Given the description of an element on the screen output the (x, y) to click on. 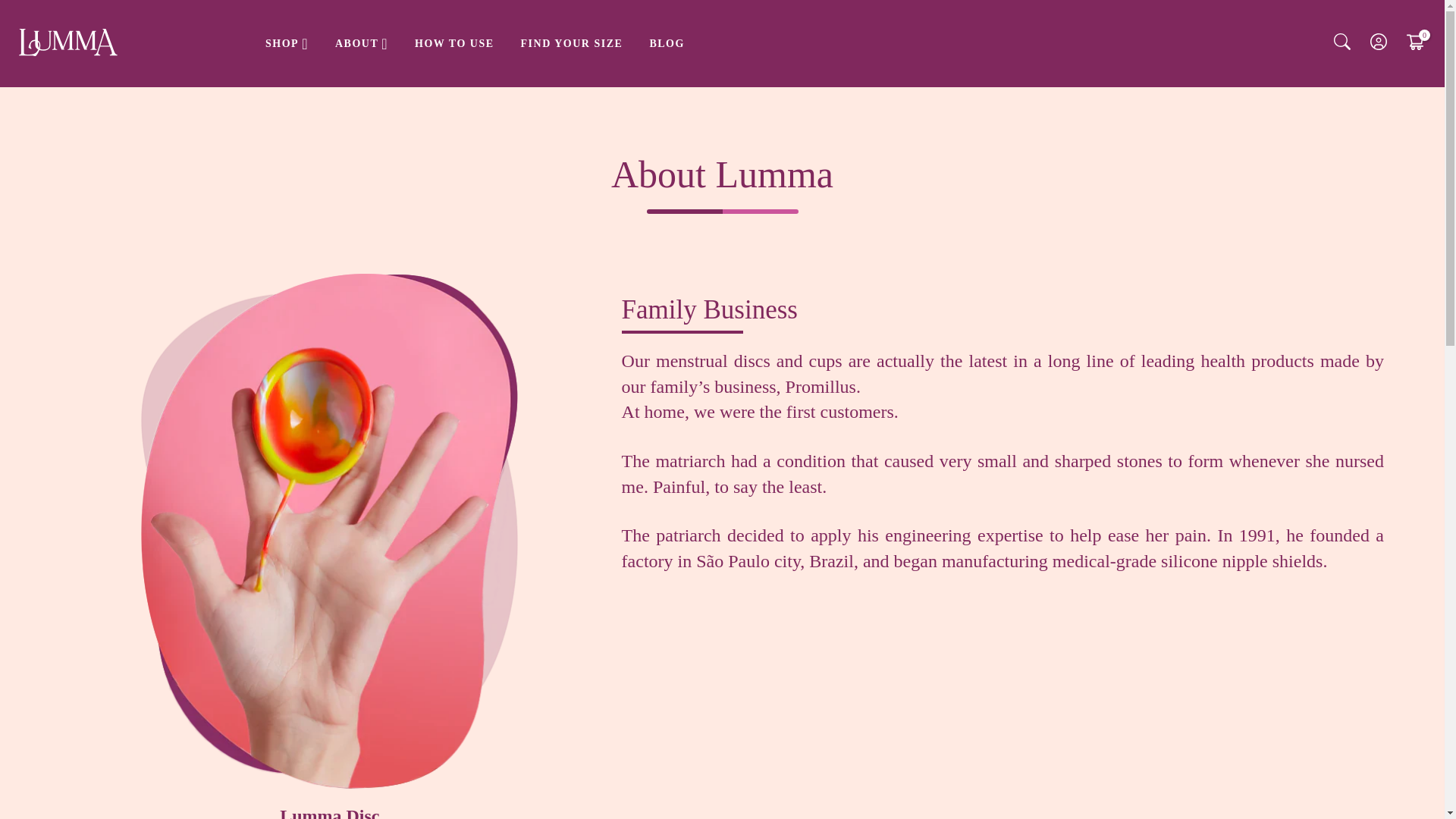
0 (1414, 43)
ABOUT (361, 43)
FIND YOUR SIZE (571, 43)
SHOP (286, 43)
BLOG (666, 43)
HOW TO USE (453, 43)
